Given the description of an element on the screen output the (x, y) to click on. 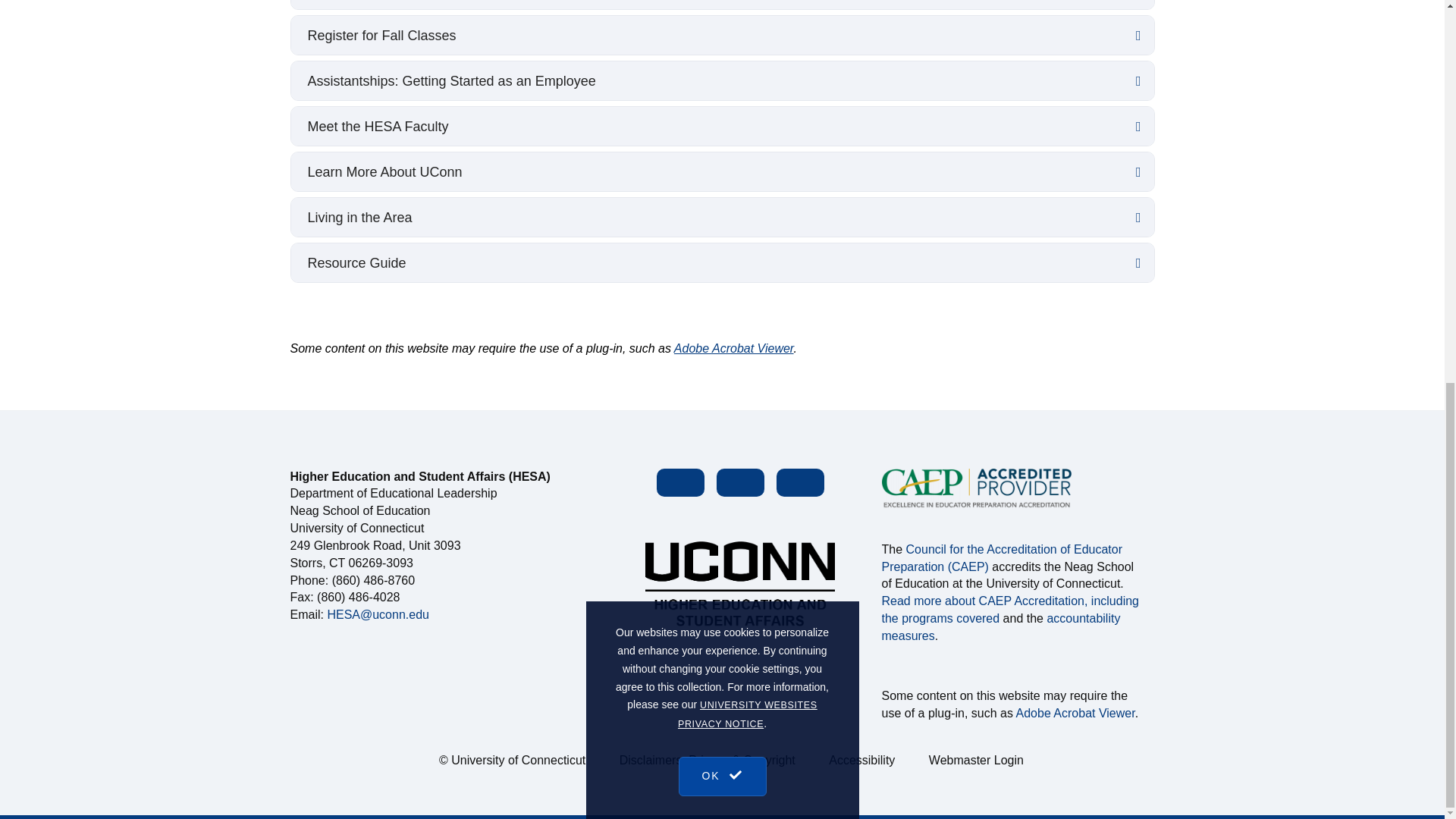
OK (721, 111)
UNIVERSITY WEBSITES PRIVACY NOTICE (747, 60)
Register for Fall Classes (722, 34)
